Given the description of an element on the screen output the (x, y) to click on. 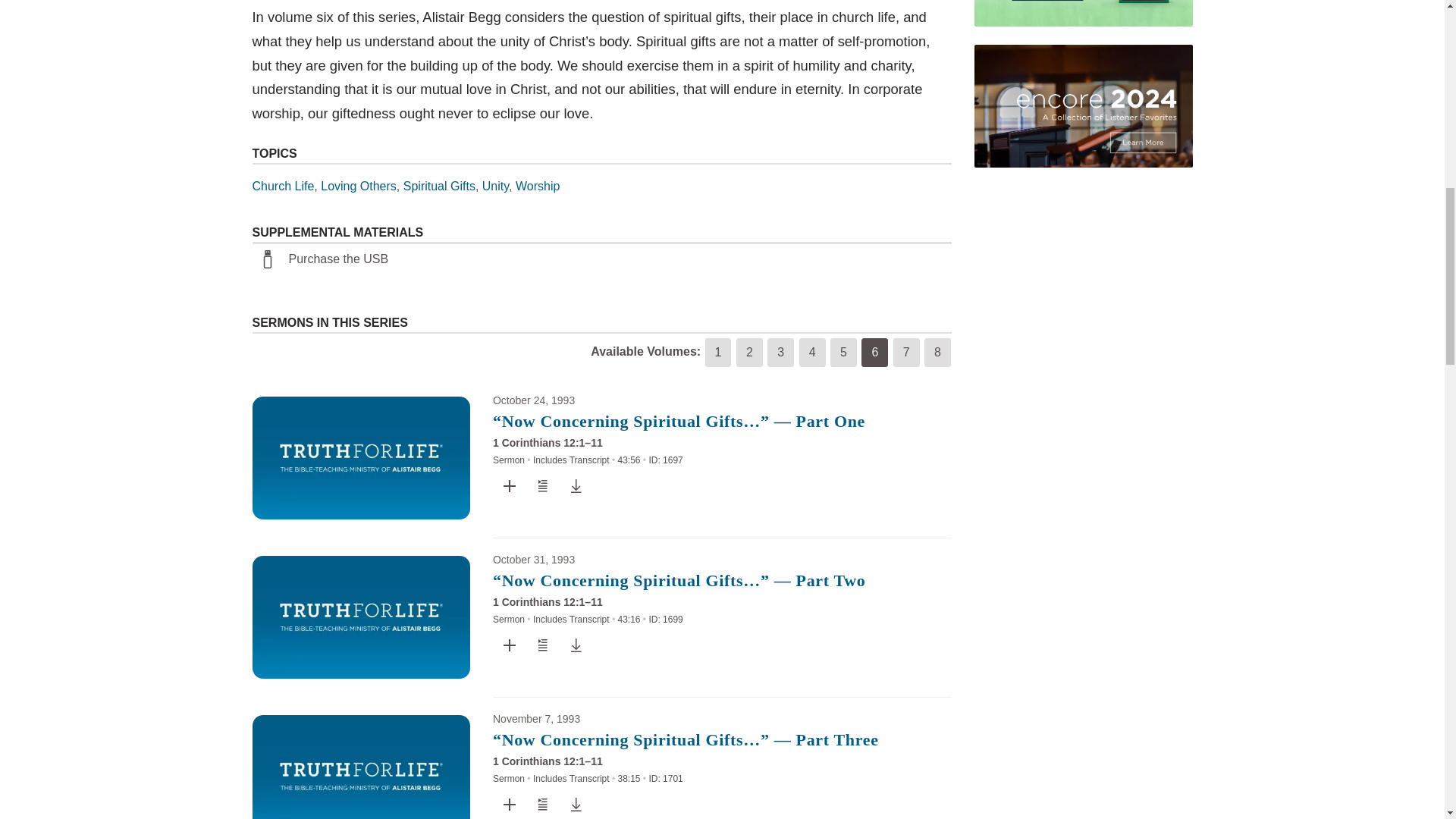
Download Free (575, 485)
Add to My Library (509, 485)
Add to My Library (509, 485)
Add to My Library (509, 644)
Add to Listen Queue (542, 485)
Add to Listen Queue (542, 645)
Listen Queue (542, 644)
Add to My Library (509, 645)
Listen Queue (542, 485)
